Given the description of an element on the screen output the (x, y) to click on. 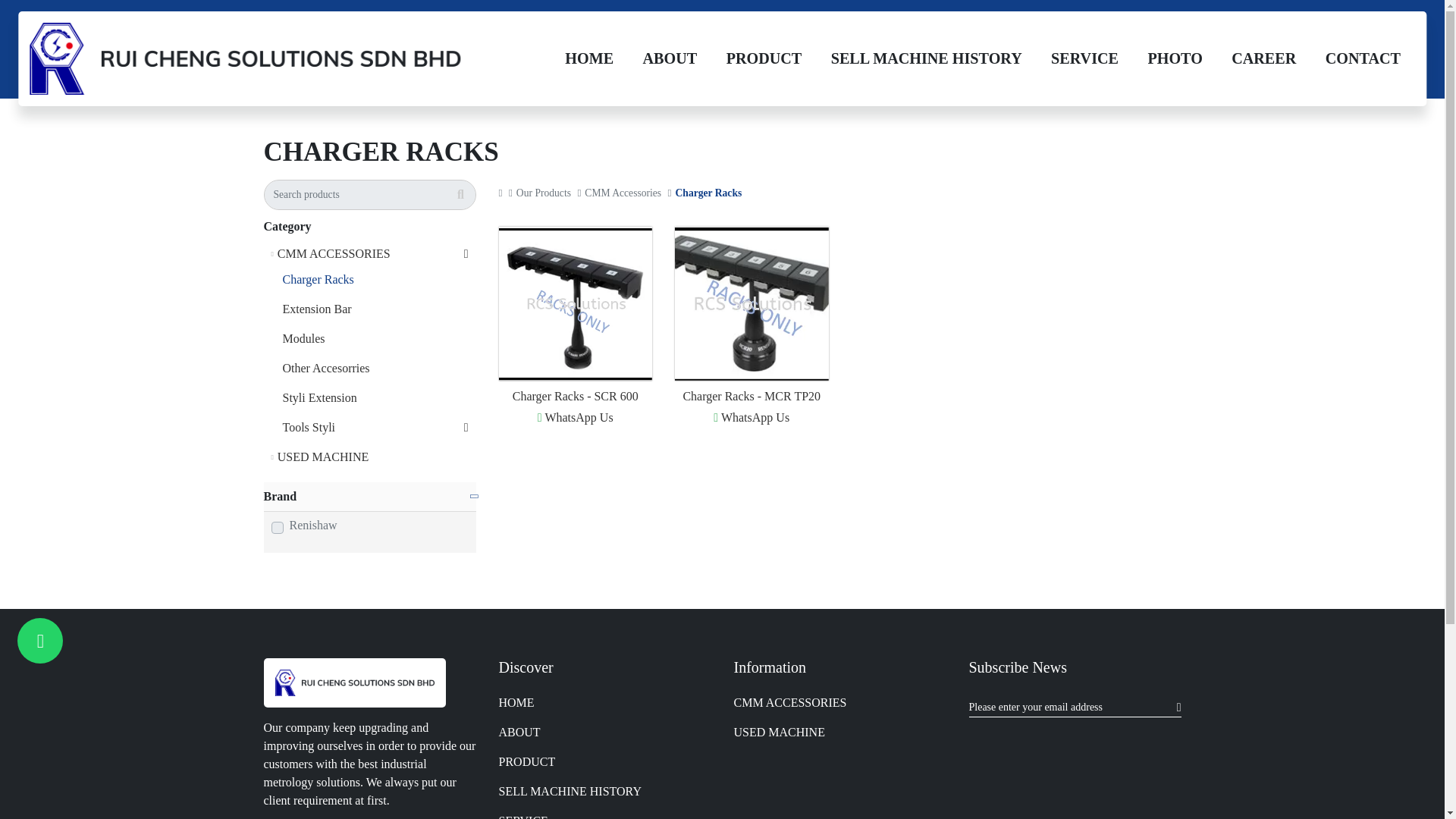
Service (1084, 58)
Other Accesorries (377, 368)
HOME (588, 58)
Styli Extension (377, 397)
Charger Racks (377, 279)
SELL MACHINE HISTORY (925, 58)
ABOUT (669, 58)
Our Products (544, 193)
Modules (377, 338)
PHOTO (1174, 58)
